Given the description of an element on the screen output the (x, y) to click on. 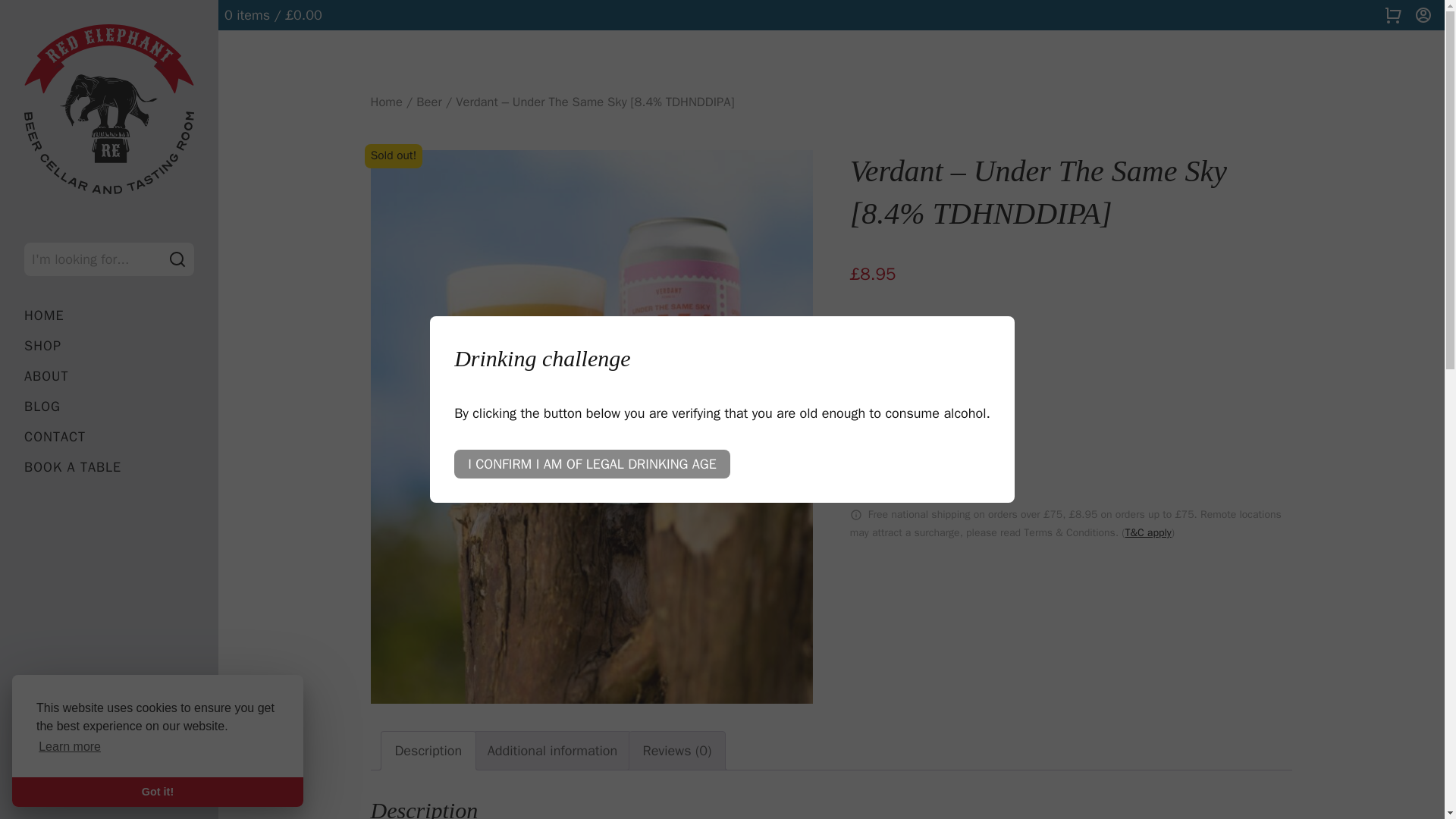
BLOG (108, 406)
Description (427, 750)
CONTACT (108, 436)
View your shopping basket (1392, 15)
Got it! (156, 791)
Home (385, 101)
Visit your account page (1422, 15)
HOME (108, 315)
ABOUT (108, 376)
Beer (428, 101)
Additional information (552, 750)
Learn more (69, 746)
BOOK A TABLE (108, 467)
SHOP (108, 345)
I CONFIRM I AM OF LEGAL DRINKING AGE (592, 463)
